Given the description of an element on the screen output the (x, y) to click on. 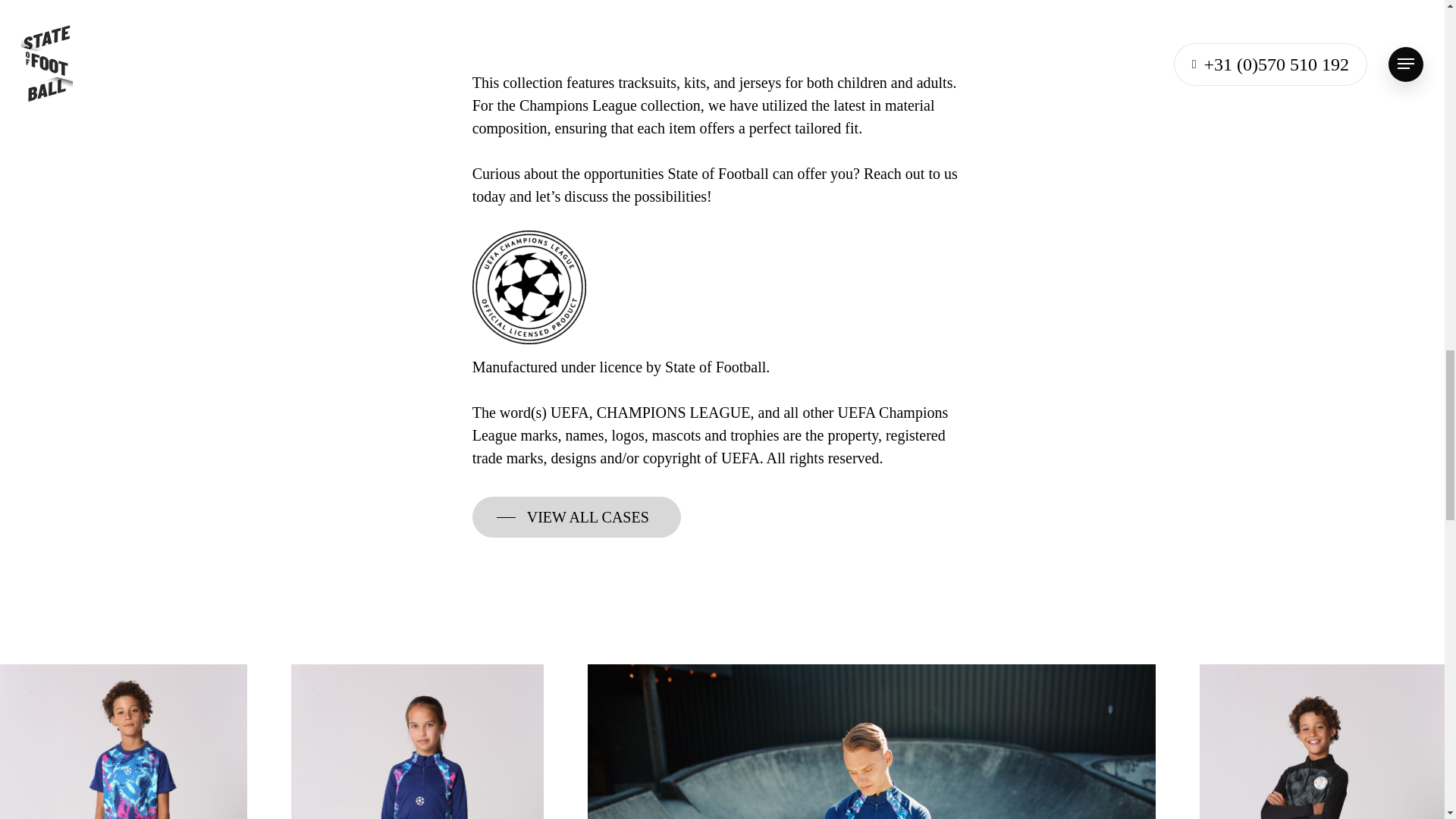
VIEW ALL CASES (576, 517)
